Given the description of an element on the screen output the (x, y) to click on. 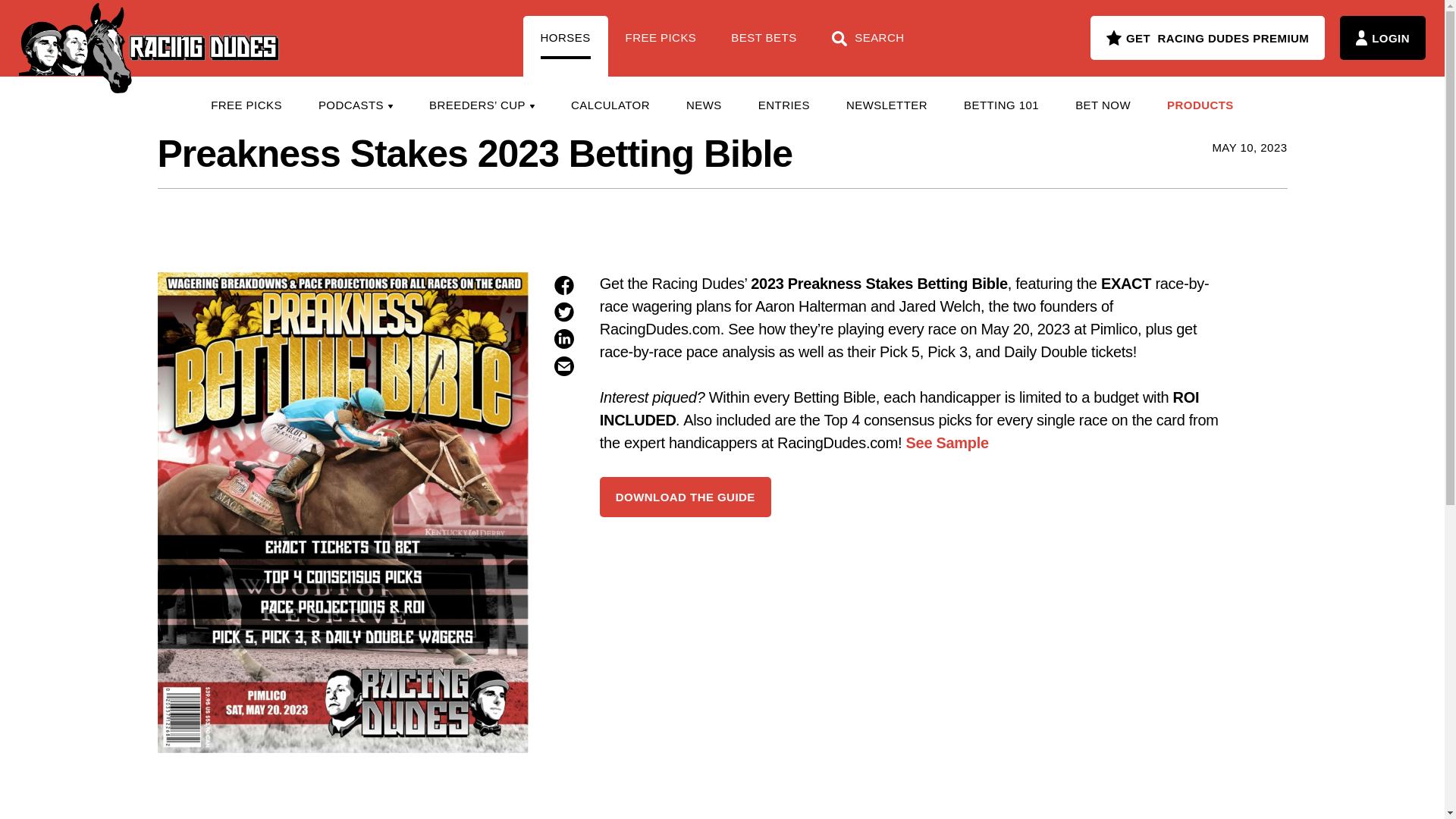
LOGIN (1382, 37)
FREE PICKS (661, 45)
HORSES (565, 45)
BEST BETS (763, 45)
FREE PICKS (245, 105)
GET  RACING DUDES PREMIUM (1207, 37)
PODCASTS (354, 105)
 SEARCH (867, 45)
